Given the description of an element on the screen output the (x, y) to click on. 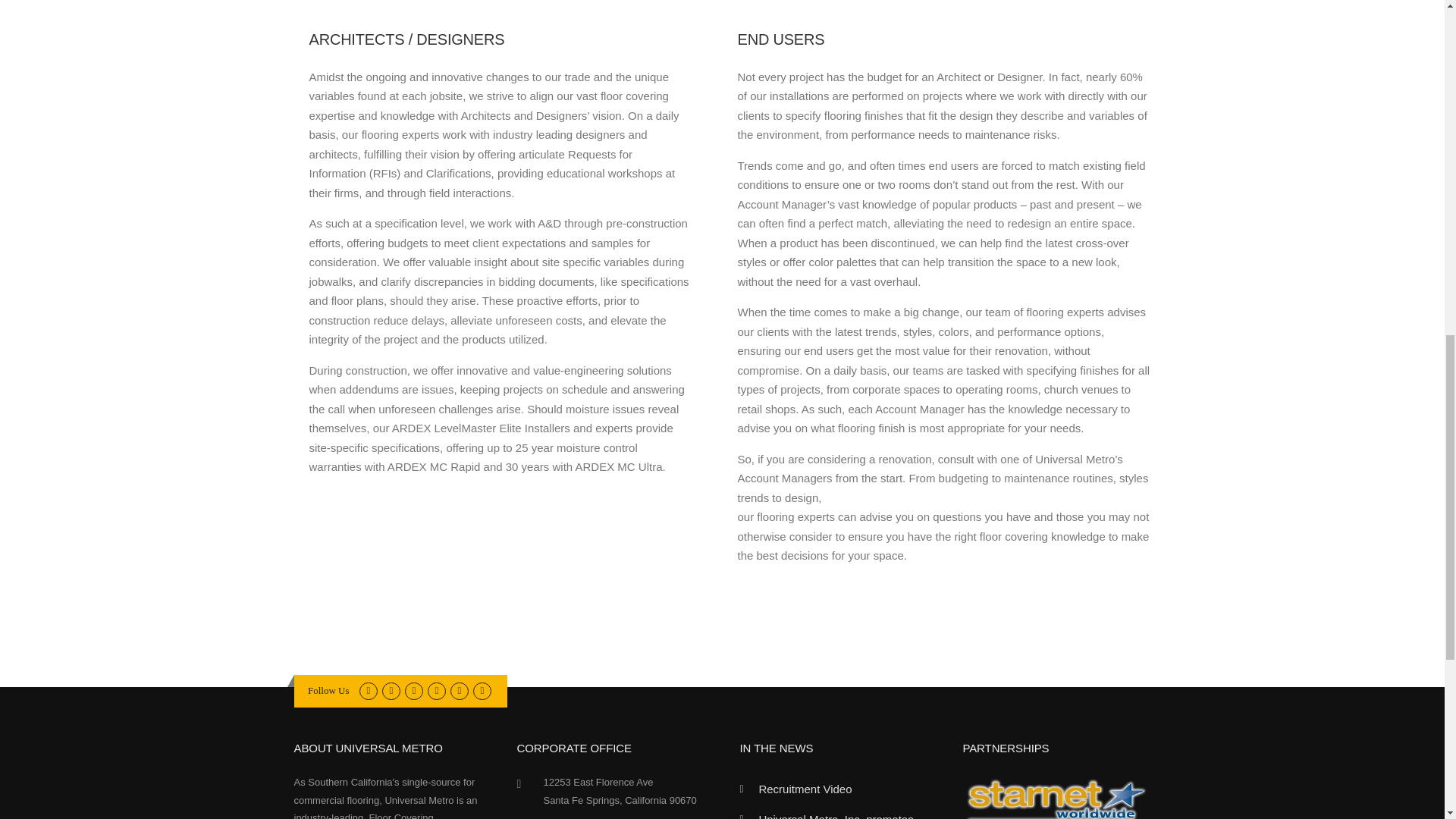
Email (481, 690)
Instagram (458, 690)
Facebook (389, 690)
Twitter (368, 690)
Recruitment Video (804, 788)
Linkedin (413, 690)
Pinterest (436, 690)
